Given the description of an element on the screen output the (x, y) to click on. 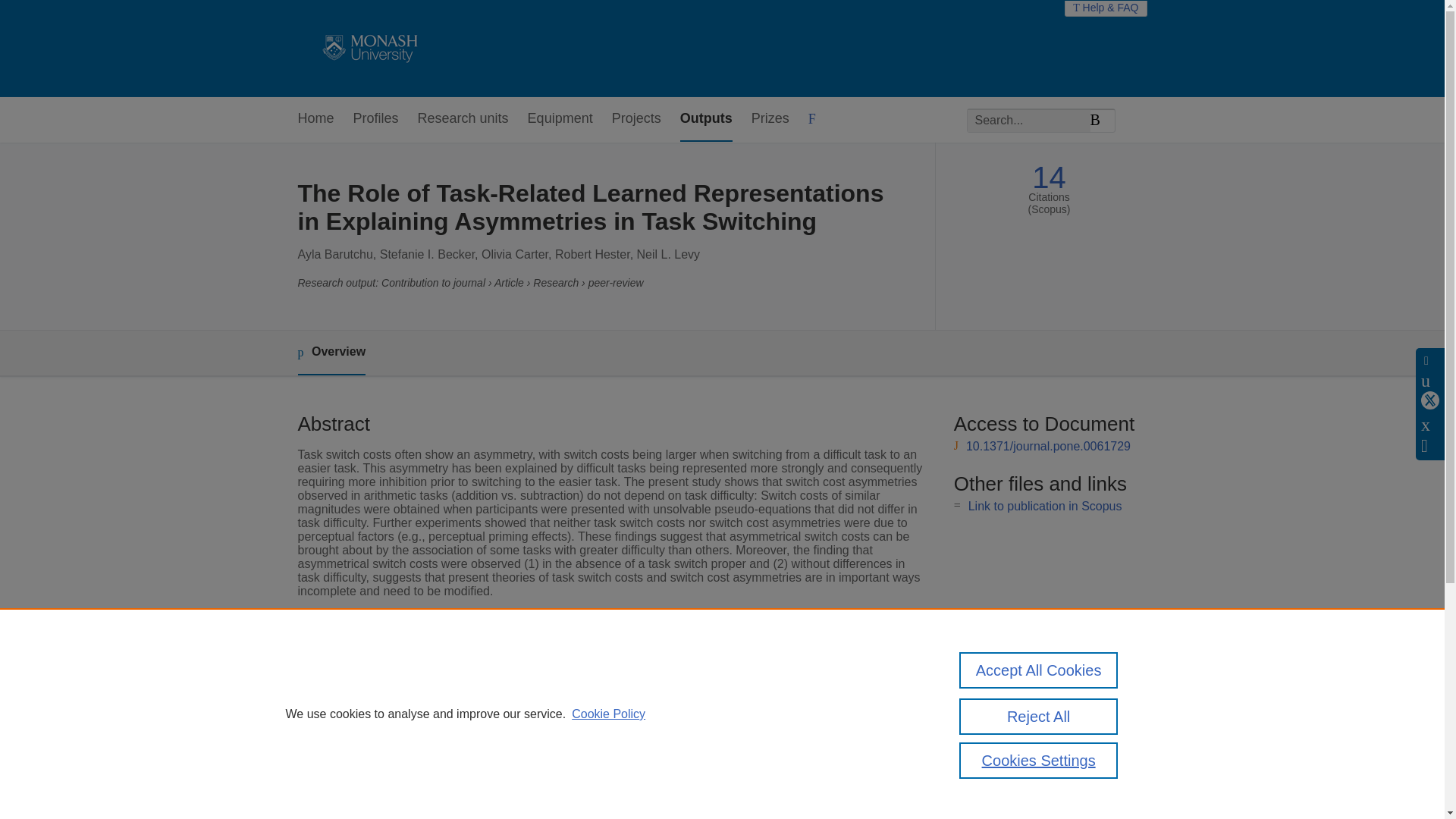
Link to publication in Scopus (1045, 505)
Home (315, 119)
14 (1048, 177)
Equipment (559, 119)
Outputs (705, 119)
PLoS ONE (541, 664)
Prizes (770, 119)
Research units (462, 119)
Projects (636, 119)
Cookies Settings (1038, 760)
Monash University Home (366, 48)
Cookie Policy (608, 713)
Profiles (375, 119)
Reject All (1038, 716)
